Given the description of an element on the screen output the (x, y) to click on. 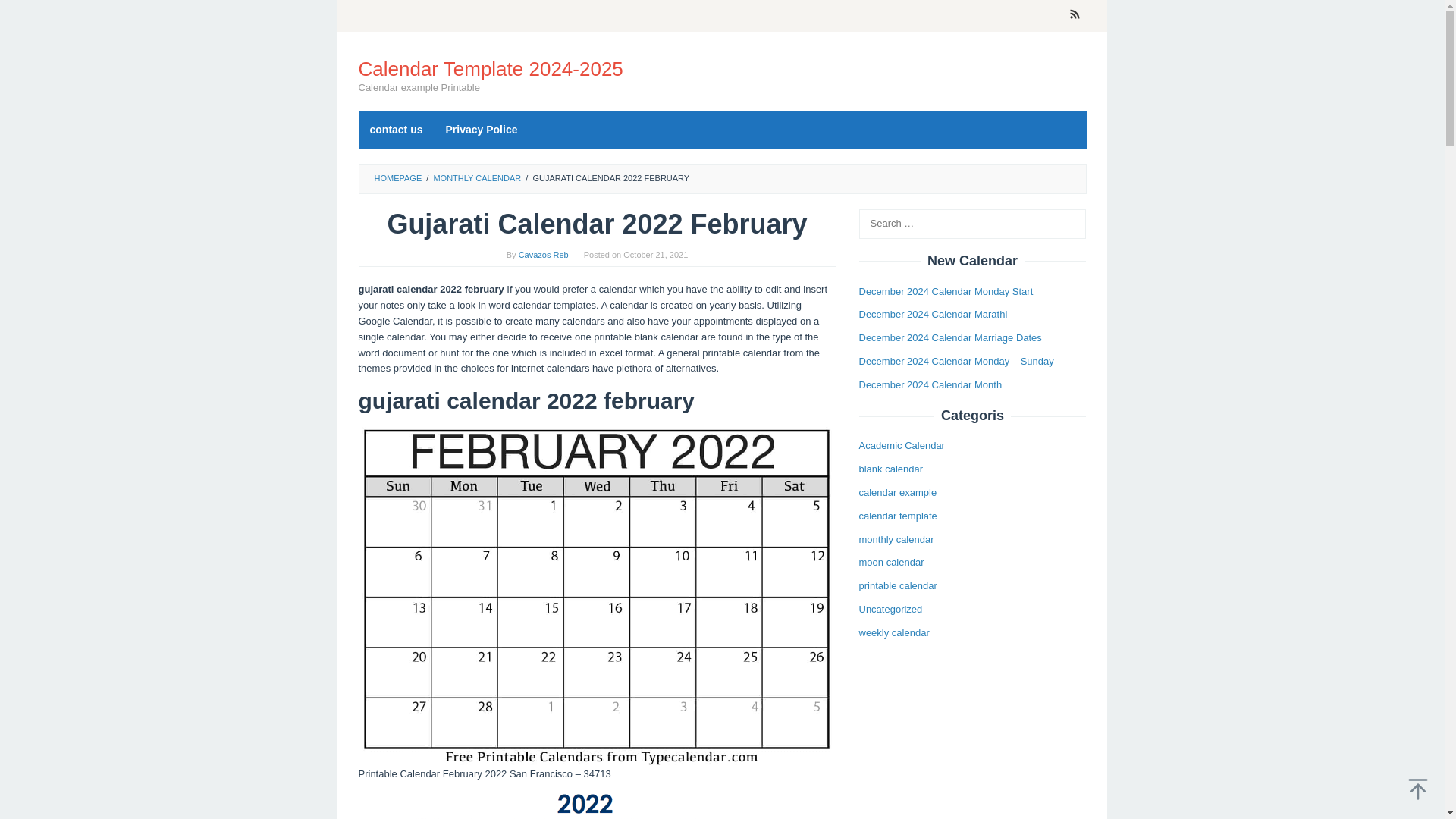
printable calendar (897, 585)
December 2024 Calendar Month (930, 384)
blank calendar (891, 469)
Academic Calendar (901, 445)
Calendar Template 2024-2025 (490, 68)
monthly calendar (896, 539)
MONTHLY CALENDAR (476, 177)
weekly calendar (893, 632)
Search (26, 14)
